Given the description of an element on the screen output the (x, y) to click on. 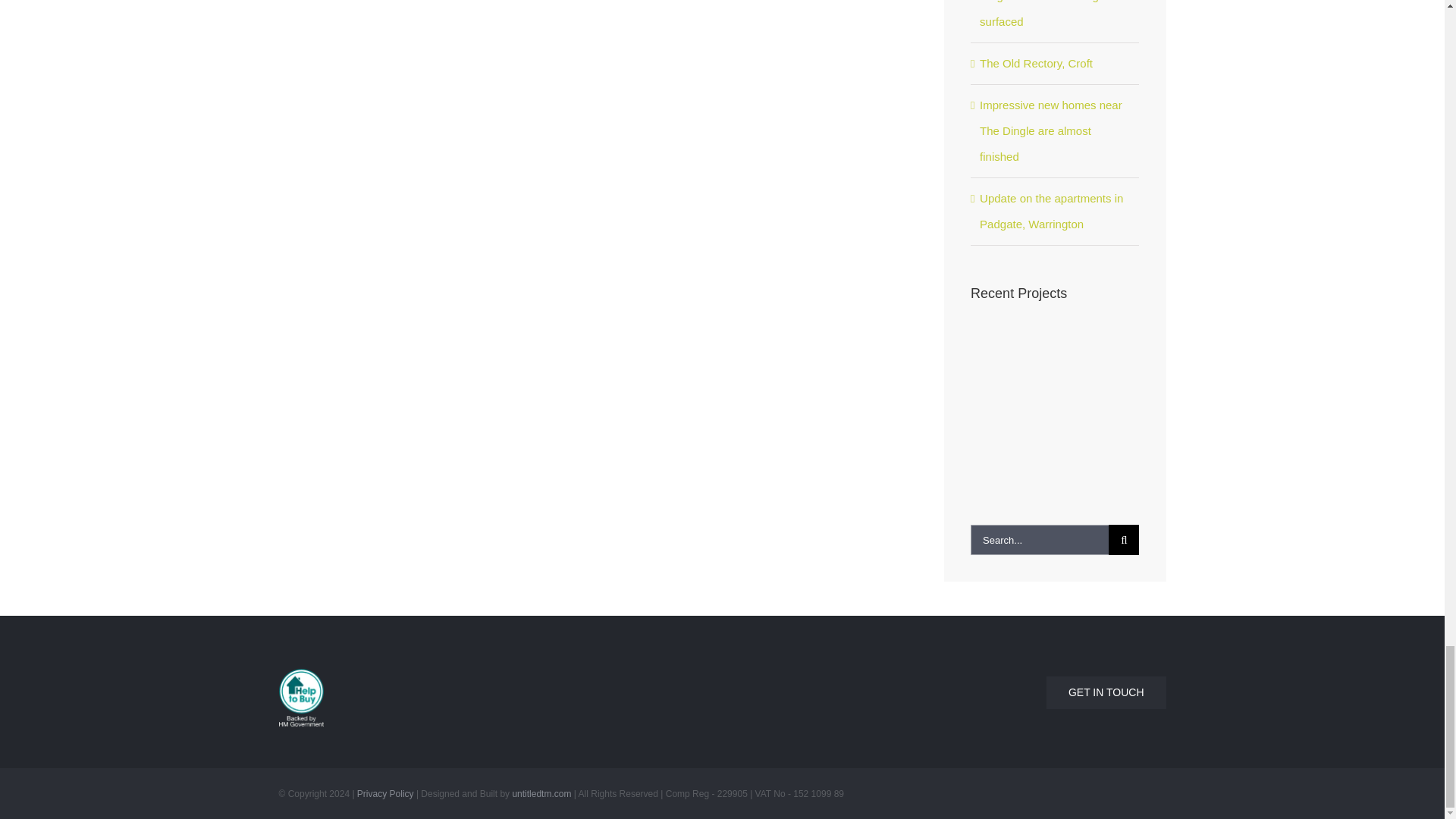
280 Knutsford Road, Warrington Co-Op Convenience Store (1052, 353)
GET IN TOUCH (949, 683)
Chester Road, Kelsall, CW6 0RN (1107, 353)
Ennerdale Avenue, Chorlton-Cum-Hardy, Manchester (997, 353)
